Given the description of an element on the screen output the (x, y) to click on. 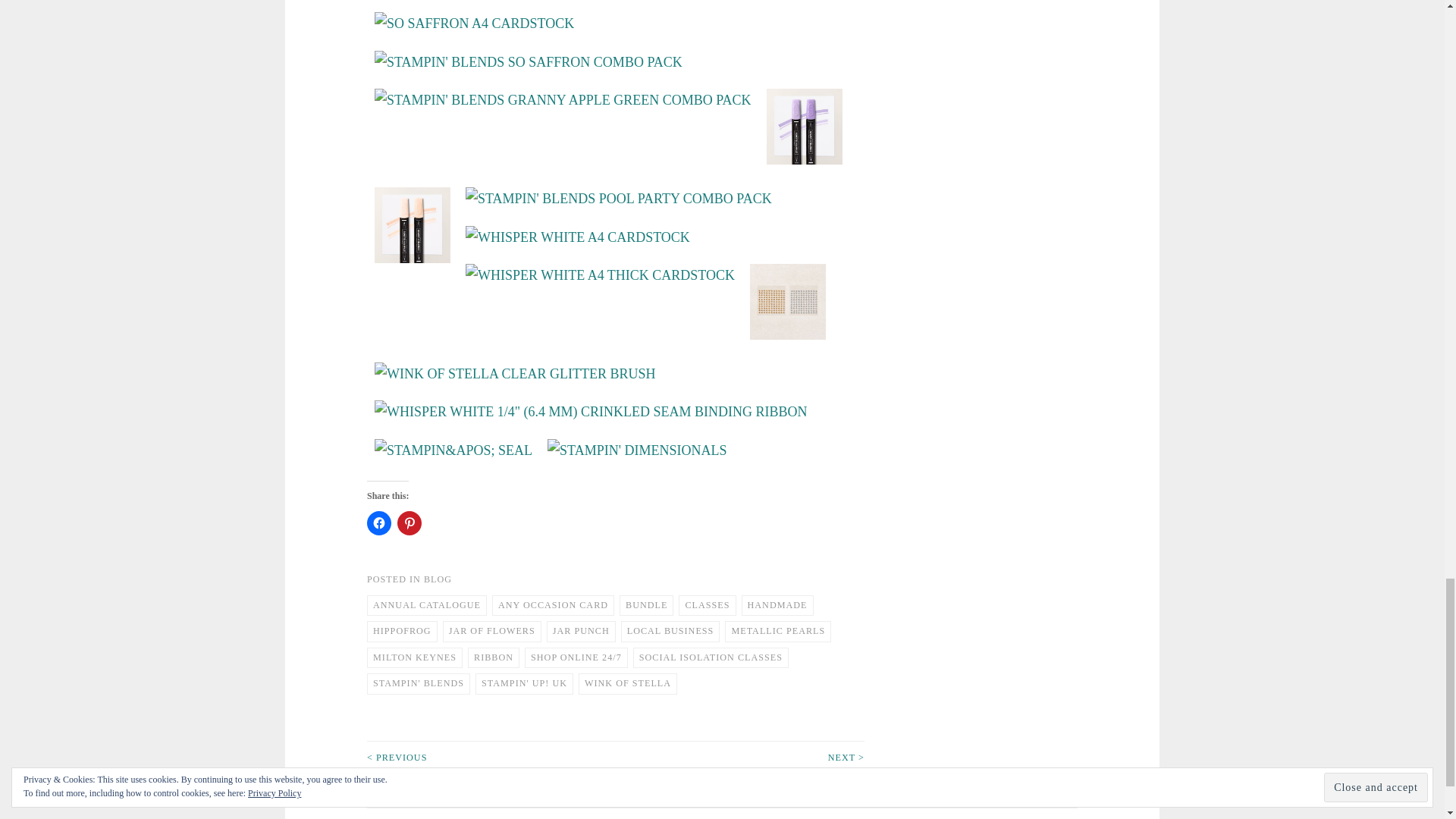
STAMPIN' BLENDS PETAL PINK COMBO PACK (411, 229)
STAMPIN' BLENDS SO SAFFRON COMBO PACK (528, 62)
STAMPIN' BLENDS GRANNY APPLE GREEN COMBO PACK (562, 100)
WHISPER WHITE A4 CARDSTOCK (577, 237)
SO SAFFRON A4 CARDSTOCK (473, 24)
WINK OF STELLA CLEAR GLITTER BRUSH (515, 373)
WHISPER WHITE A4 THICK CARDSTOCK (600, 275)
STAMPIN' BLENDS HIGHLAND HEATHER COMBO PACK (805, 129)
METALLIC PEARLS (787, 305)
STAMPIN' BLENDS POOL PARTY COMBO PACK (618, 198)
